Given the description of an element on the screen output the (x, y) to click on. 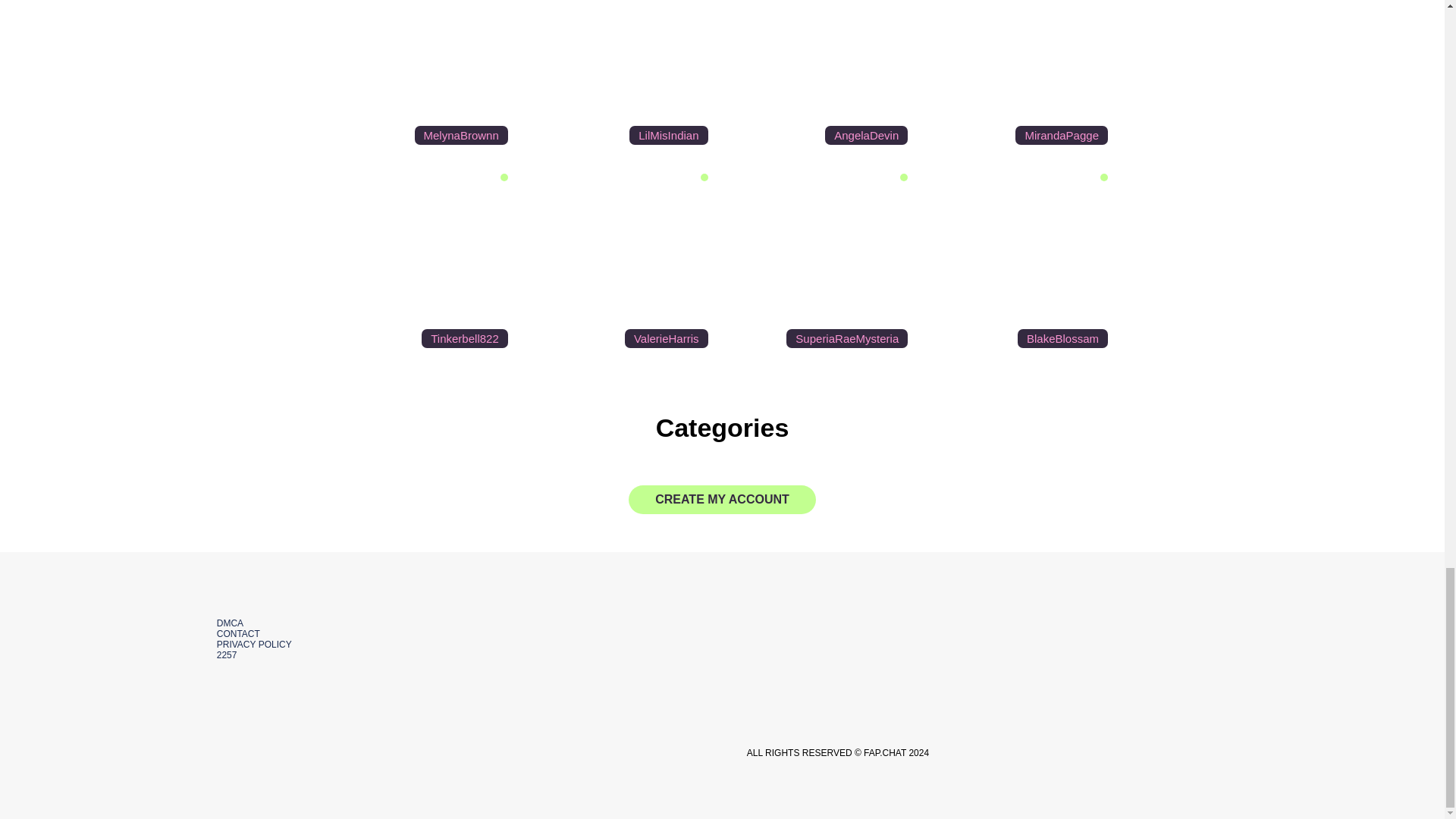
Tinkerbell822 (422, 260)
BlakeBlossam (1021, 260)
Cam Girl LilMisIndian (622, 76)
MirandaPagge (1021, 76)
SuperiaRaeMysteria (822, 260)
Cam Girl MelynaBrownn (422, 76)
LilMisIndian (622, 76)
MelynaBrownn (422, 76)
ValerieHarris (622, 260)
AngelaDevin (822, 76)
